Given the description of an element on the screen output the (x, y) to click on. 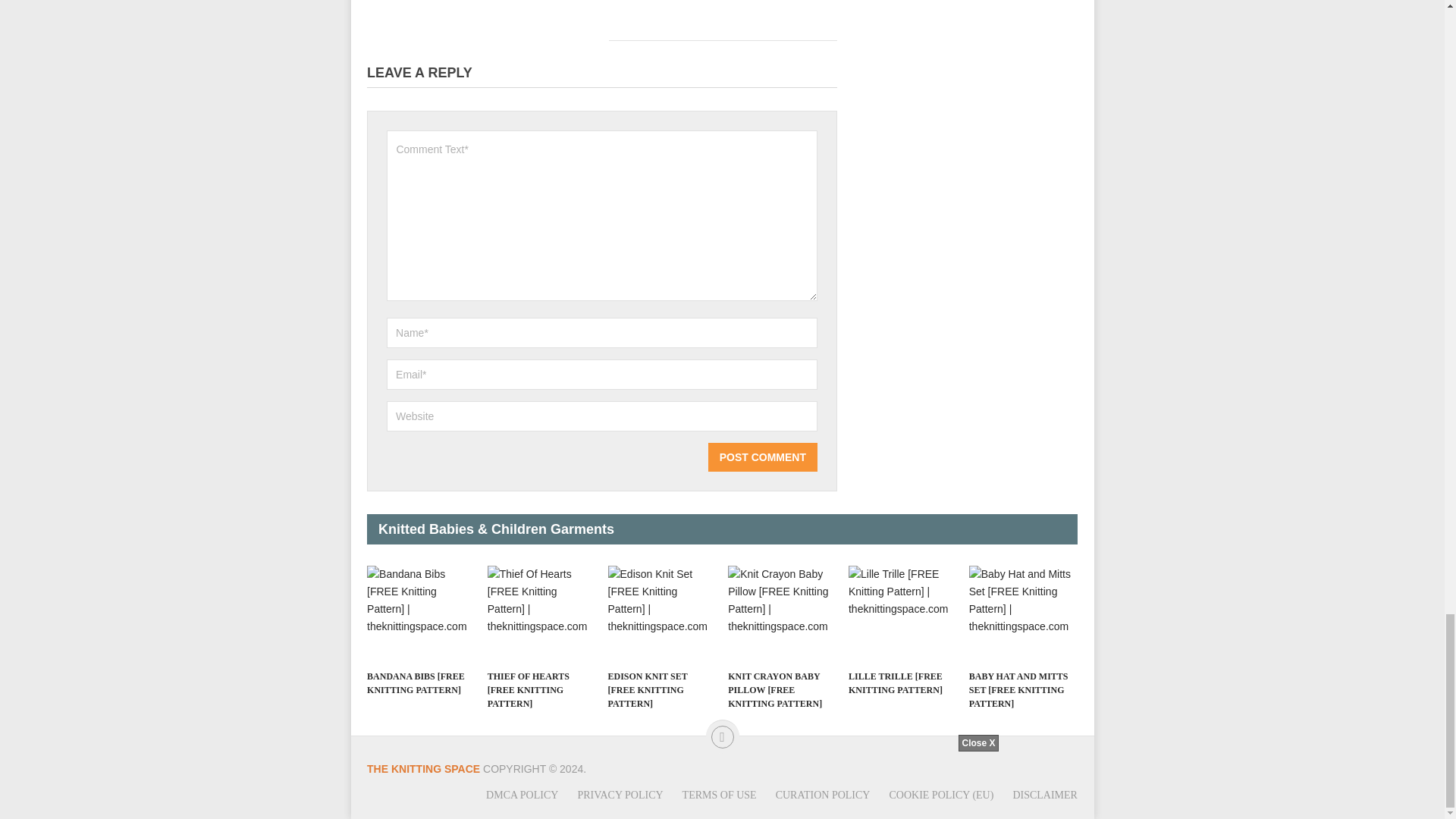
Post Comment (761, 457)
Post Comment (761, 457)
